Given the description of an element on the screen output the (x, y) to click on. 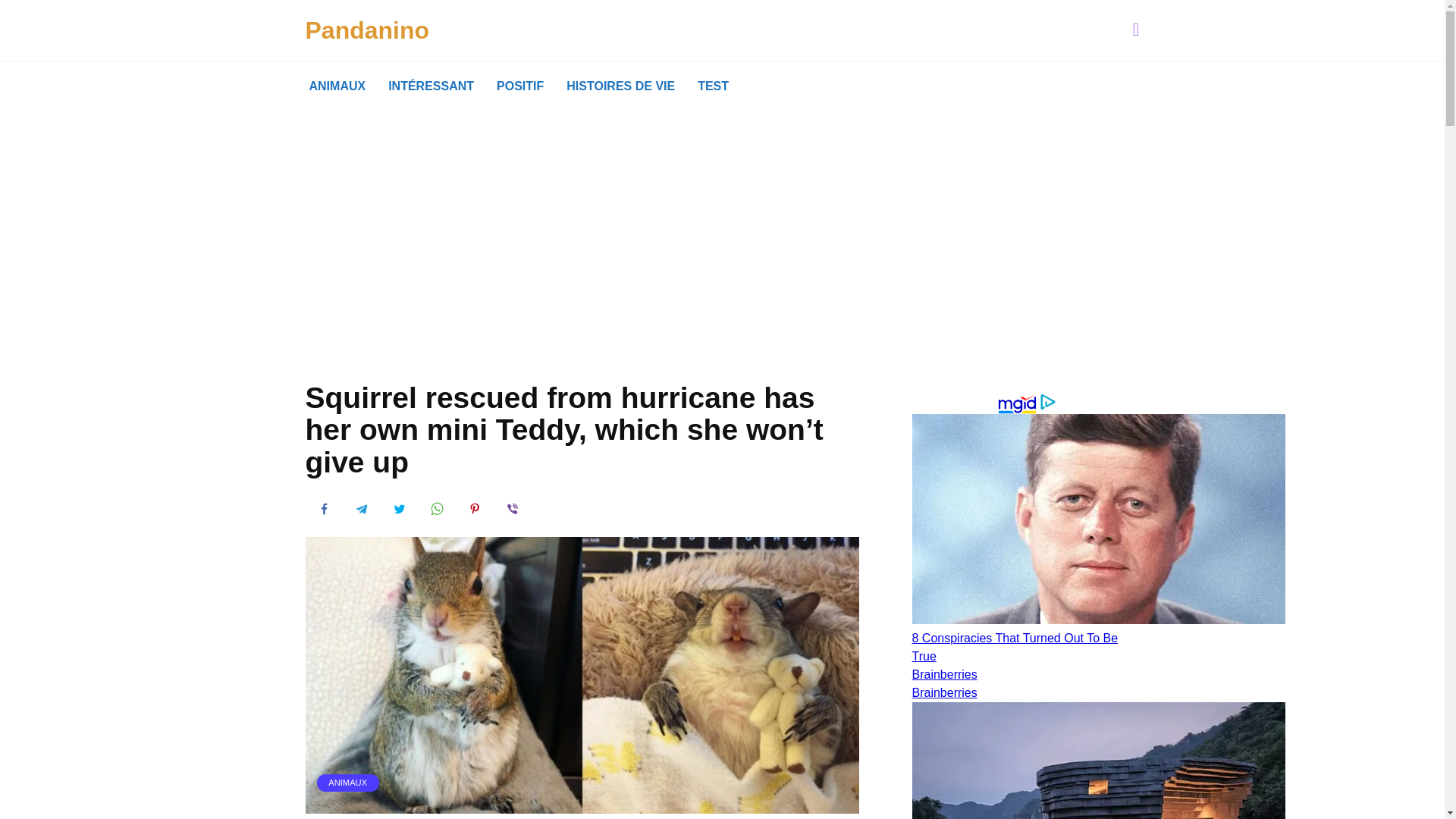
ANIMAUX (347, 782)
ANIMAUX (337, 86)
HISTOIRES DE VIE (619, 86)
TEST (712, 86)
POSITIF (519, 86)
Pandanino (366, 30)
